Given the description of an element on the screen output the (x, y) to click on. 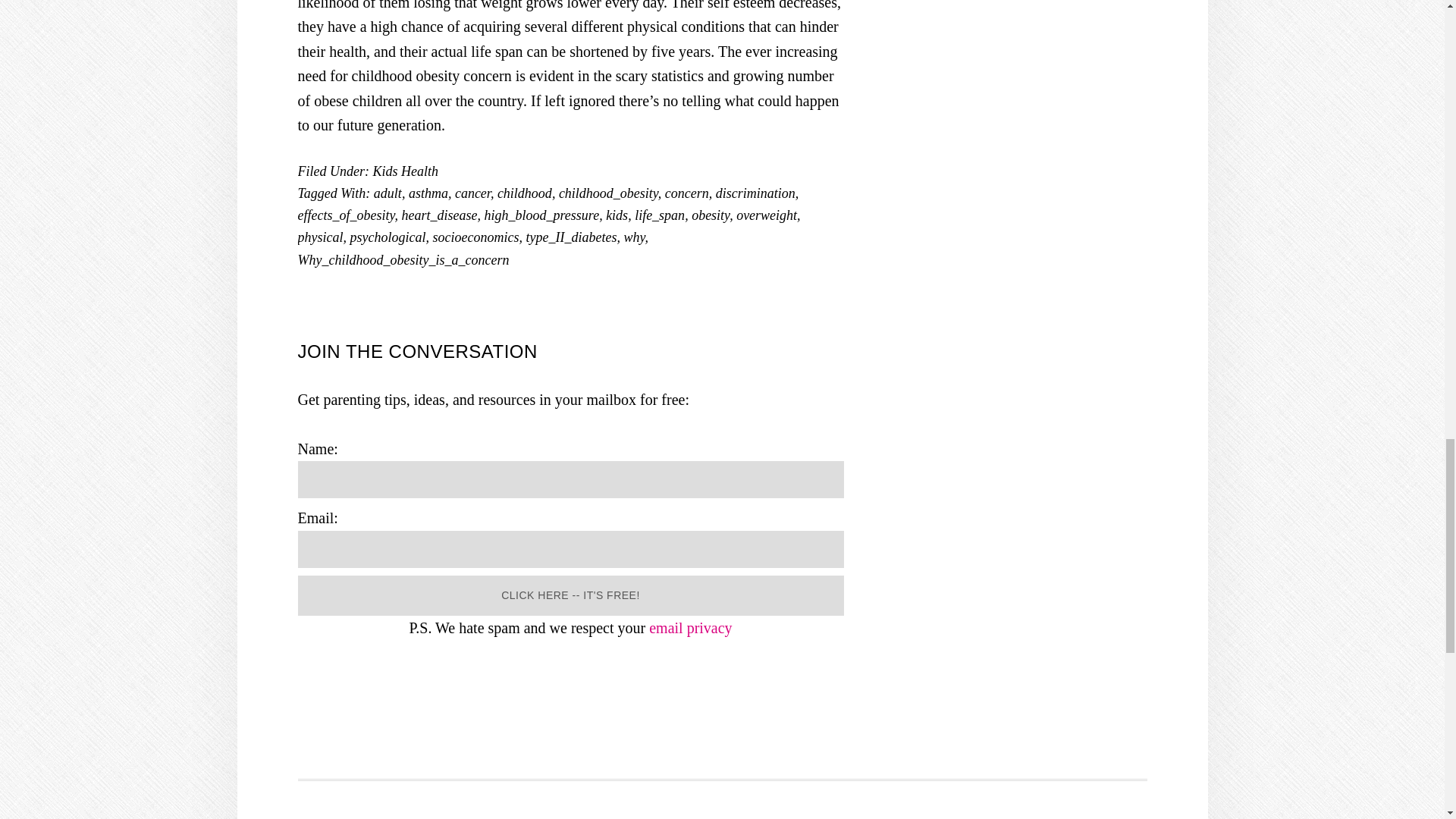
Click Here -- It's Free! (570, 595)
Privacy Policy (690, 627)
